Given the description of an element on the screen output the (x, y) to click on. 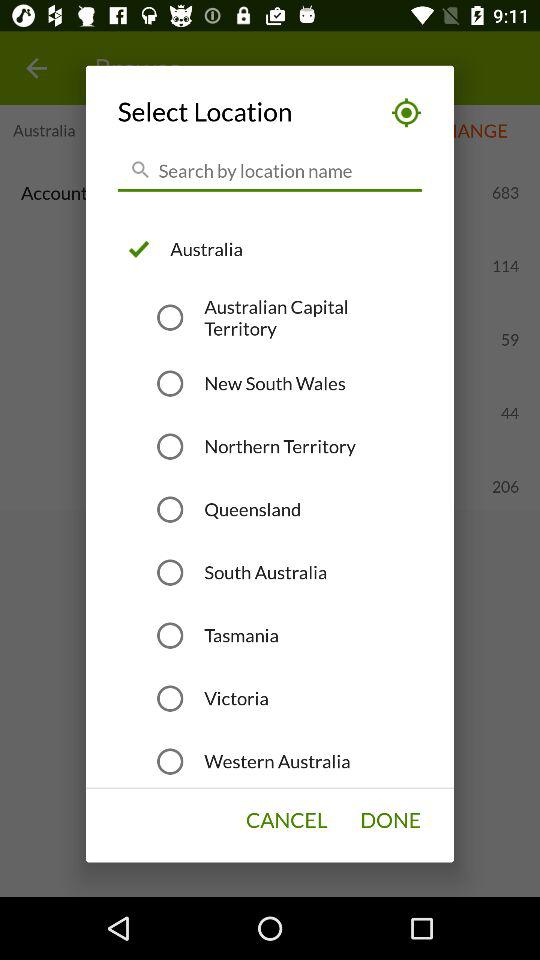
swipe until south australia (265, 572)
